Given the description of an element on the screen output the (x, y) to click on. 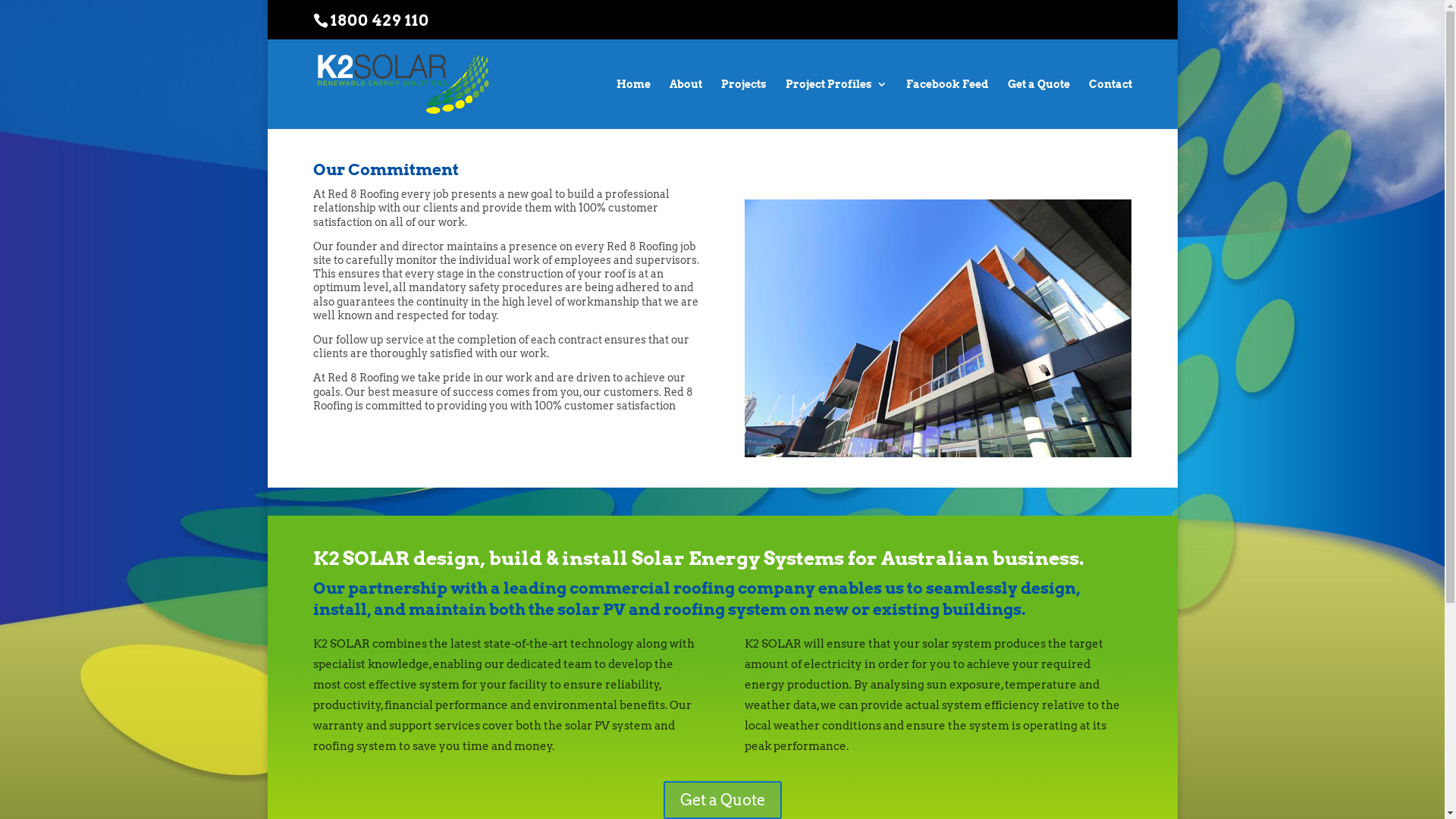
Project Profiles Element type: text (836, 103)
Home Element type: text (632, 103)
Facebook Feed Element type: text (946, 103)
Projects Element type: text (742, 103)
About Element type: text (684, 103)
Get a Quote Element type: text (1038, 103)
Contact Element type: text (1110, 103)
